Given the description of an element on the screen output the (x, y) to click on. 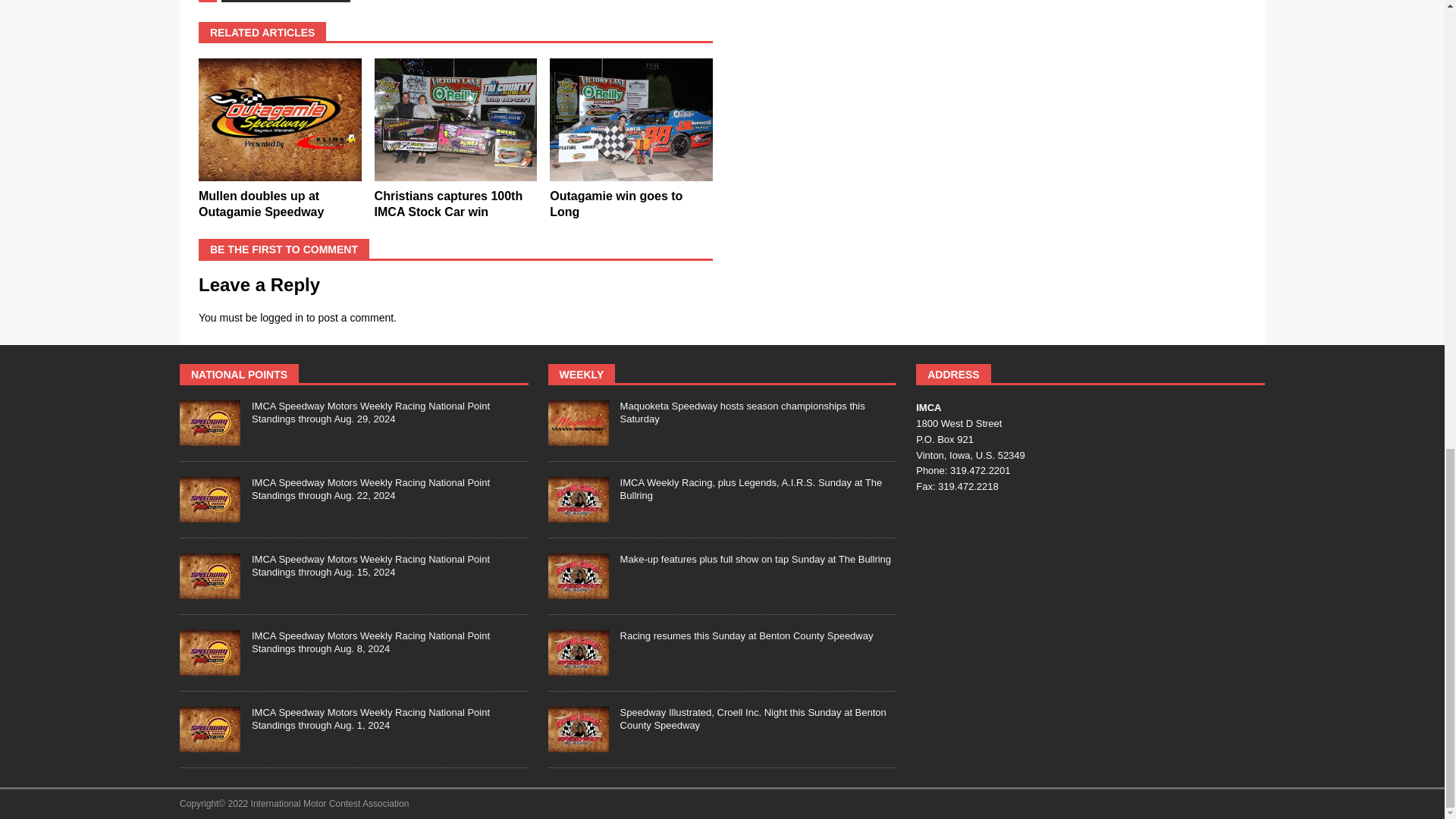
Outagamie win goes to Long (616, 203)
Christians captures 100th IMCA Stock Car win (448, 203)
Mullen doubles up at Outagamie Speedway (279, 119)
Christians captures 100th IMCA Stock Car win (455, 119)
Outagamie win goes to Long (631, 119)
Mullen doubles up at Outagamie Speedway (260, 203)
